Given the description of an element on the screen output the (x, y) to click on. 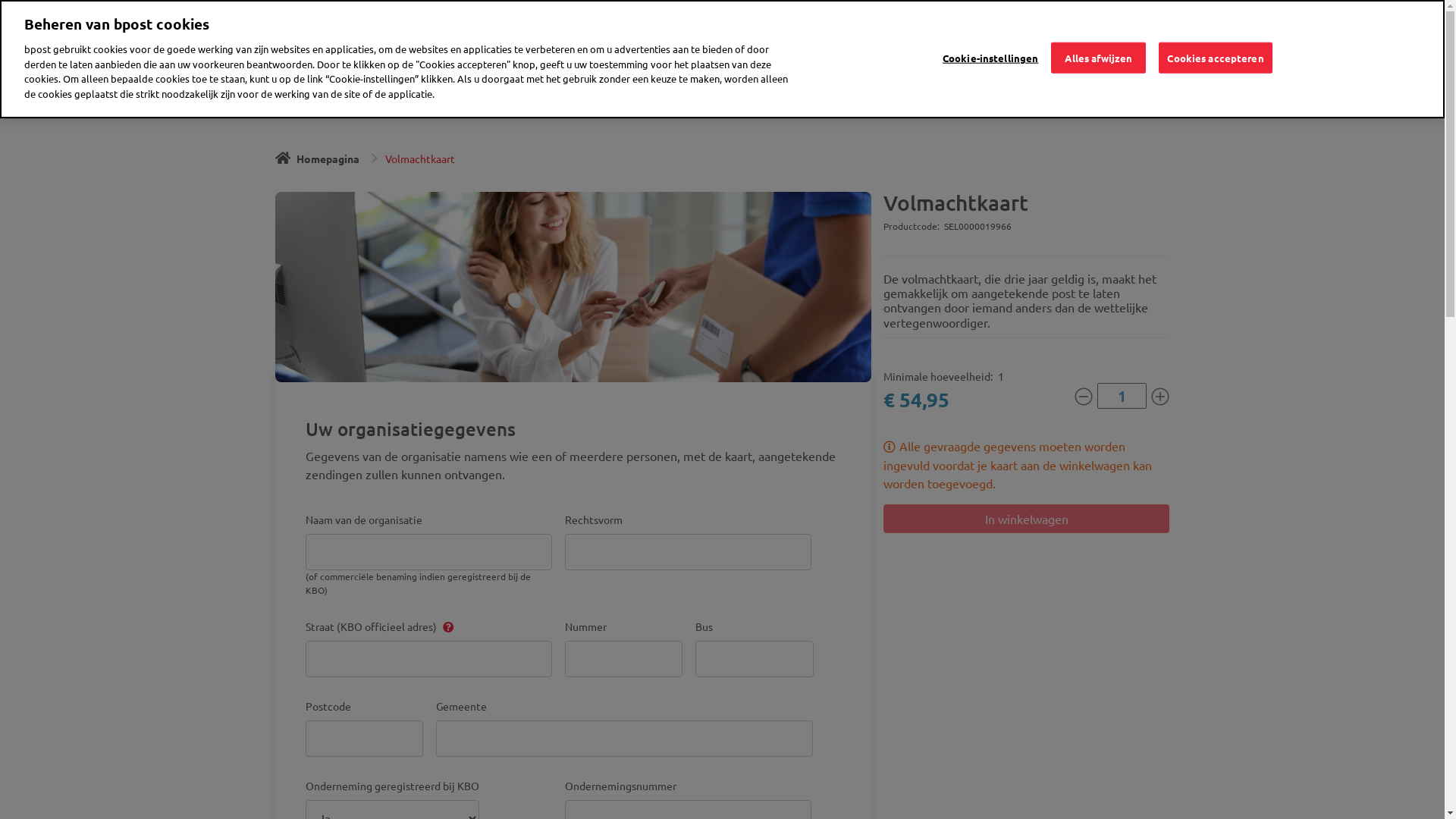
Verhuis Element type: text (919, 92)
Overslaan en naar de inhoud gaan Element type: text (0, 0)
Geef de woorden op waarnaar u wilt zoeken. Element type: hover (721, 33)
Postzegels Element type: text (300, 92)
Verzendetiketten voor pakjes Element type: text (586, 92)
In winkelwagen Element type: text (1026, 518)
Verzamelaar Element type: text (379, 92)
Alles afwijzen Element type: text (1098, 58)
Online oplossingen Element type: text (1097, 92)
Zoeken Element type: hover (913, 34)
Uploaden Element type: text (35, 14)
Wenskaarten Element type: text (462, 92)
Volmachtkaart Element type: text (420, 158)
Cookie-instellingen Element type: text (990, 58)
Homepagina Element type: hover (310, 34)
Cookies accepteren Element type: text (1214, 58)
Zoeken Element type: hover (920, 27)
Volmachtkaart Element type: text (994, 92)
Homepagina Element type: text (316, 158)
Mijn account Element type: text (1017, 34)
Atomaschriften Element type: text (842, 92)
Enveloppes en dozen Element type: text (731, 92)
